Given the description of an element on the screen output the (x, y) to click on. 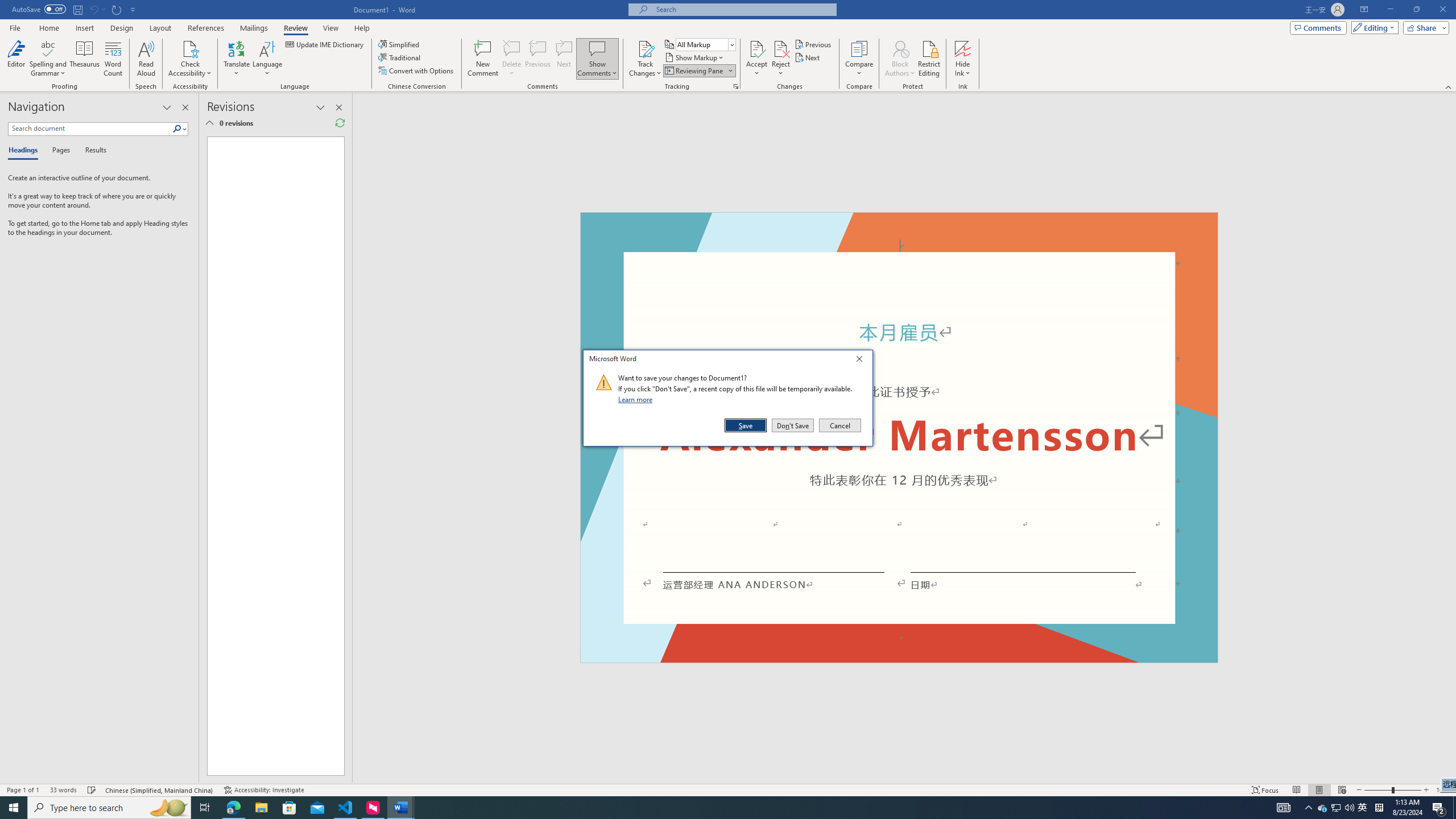
AutoSave (38, 9)
New Comment (482, 58)
Reject (780, 58)
Cancel (839, 425)
Save (746, 425)
Reviewing Pane (694, 69)
